Given the description of an element on the screen output the (x, y) to click on. 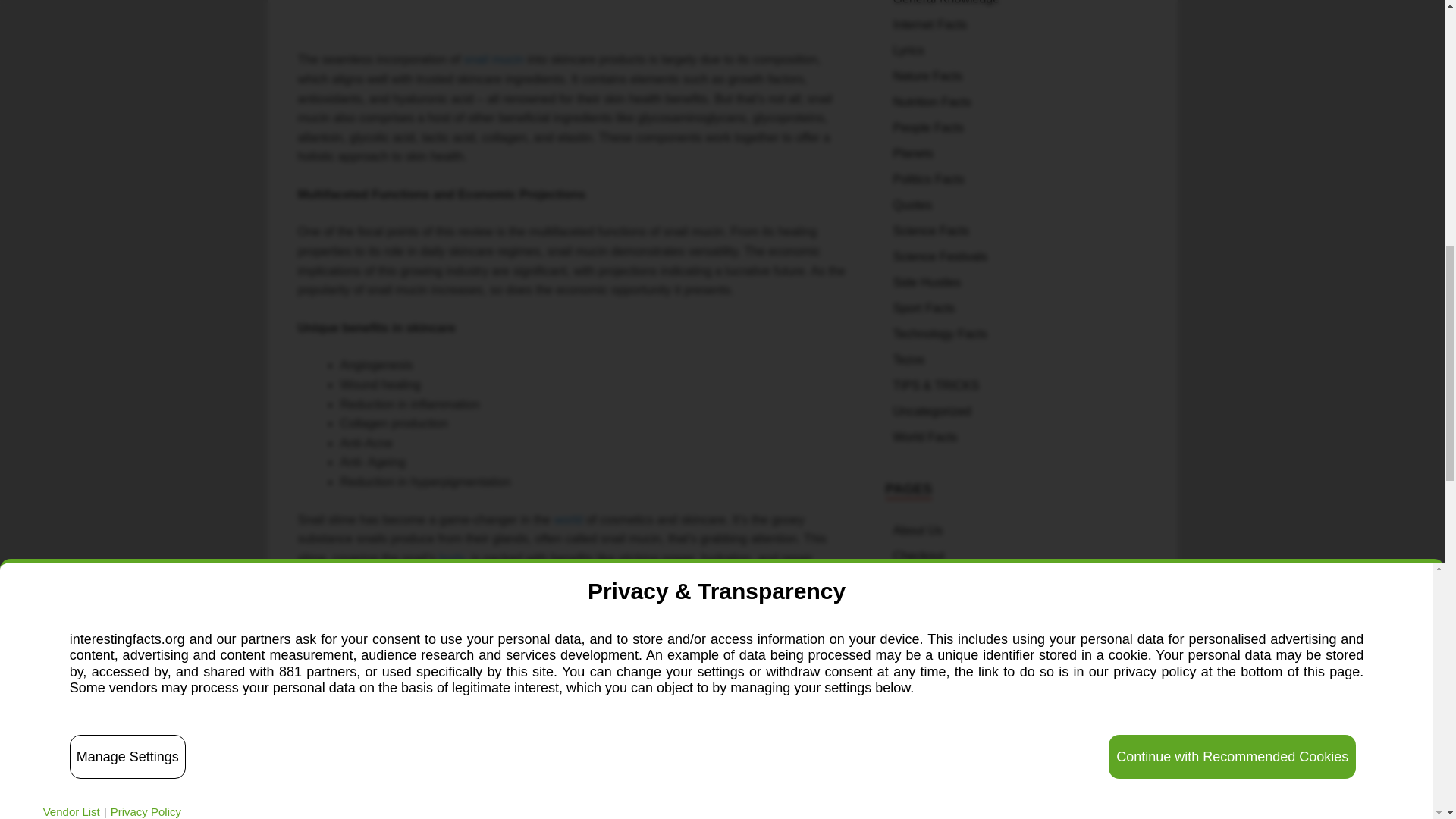
body (451, 558)
world (567, 519)
snail mucin (493, 59)
